Given the description of an element on the screen output the (x, y) to click on. 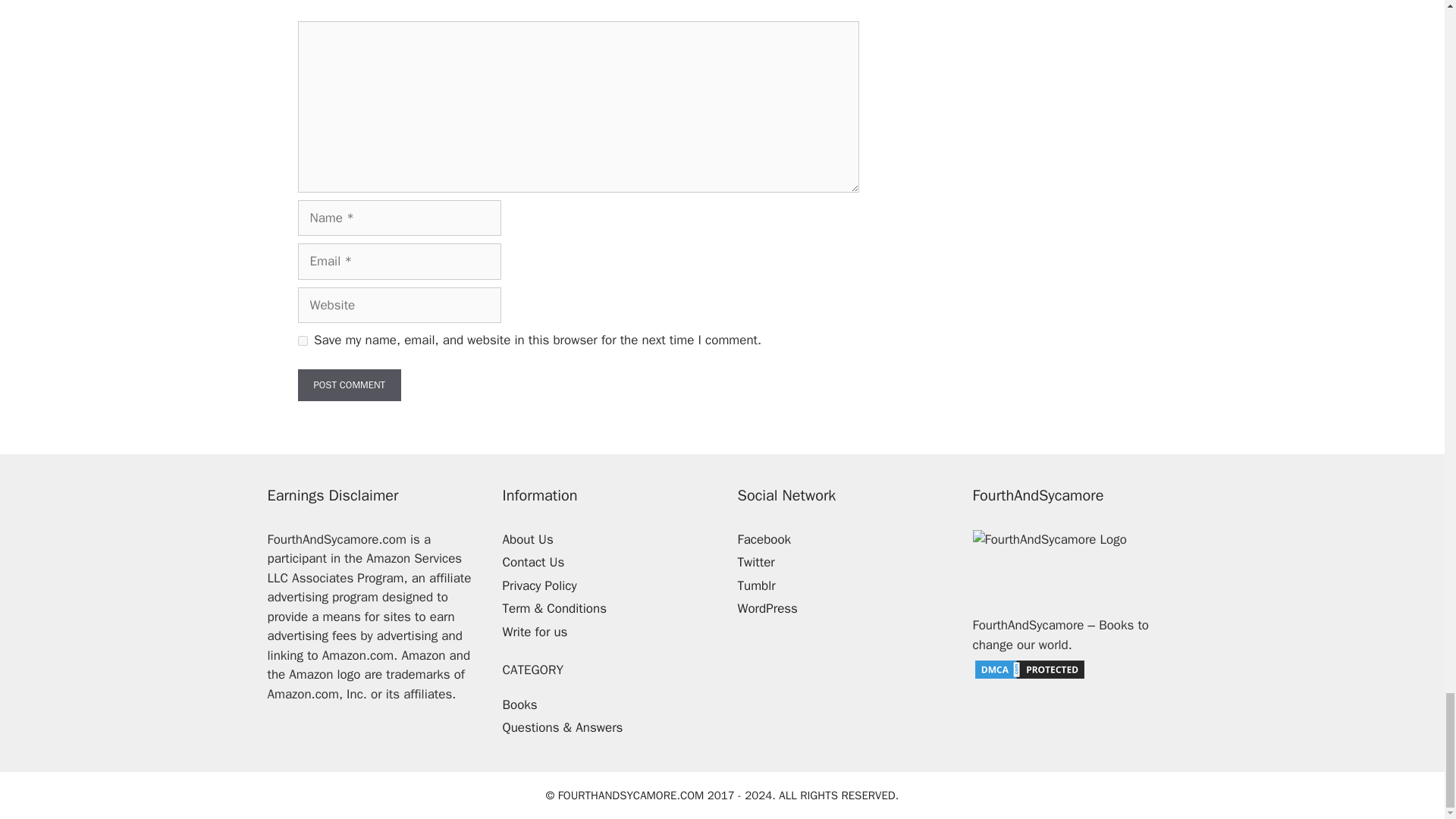
DMCA.com Protection Status (1029, 676)
yes (302, 340)
Post Comment (349, 385)
